Given the description of an element on the screen output the (x, y) to click on. 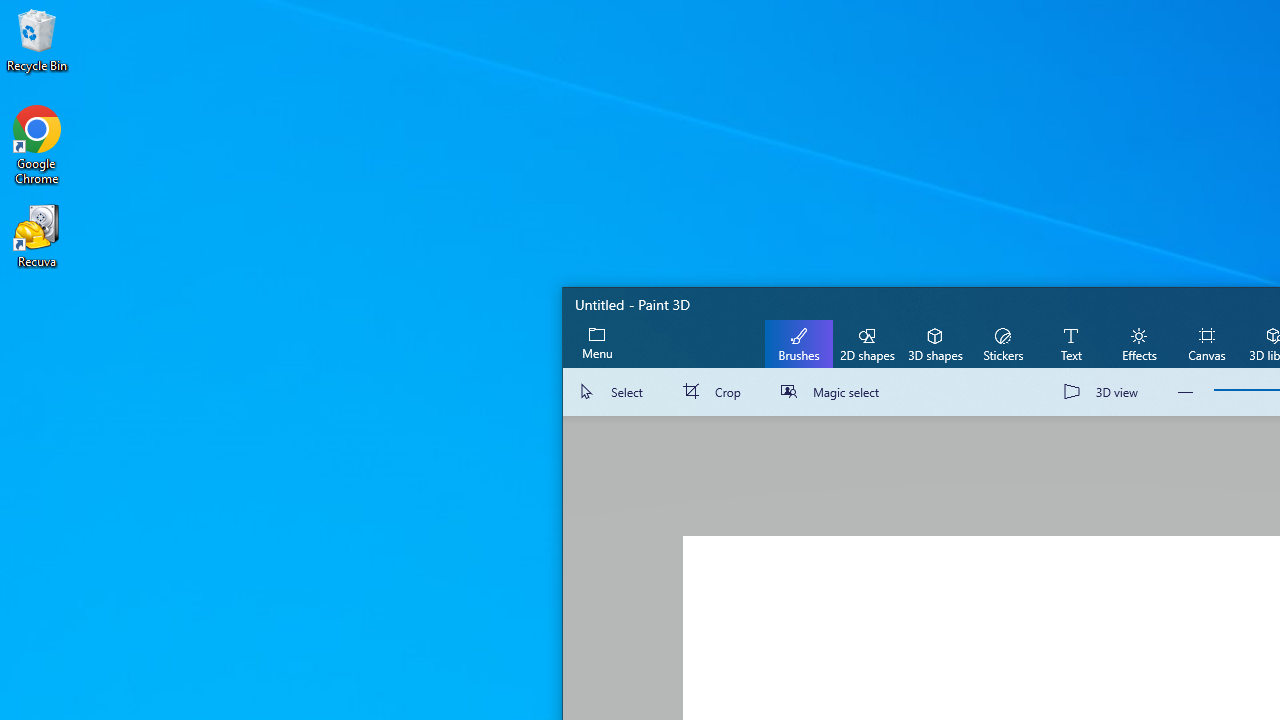
Crop (715, 391)
Expand menu (597, 343)
2D shapes (867, 343)
Effects (1138, 343)
Brushes (799, 343)
Magic select (833, 391)
Select (614, 391)
3D shapes (934, 343)
Stickers (1002, 343)
Text (1070, 343)
Canvas (1206, 343)
3D view (1105, 391)
Zoom out (1185, 391)
